Given the description of an element on the screen output the (x, y) to click on. 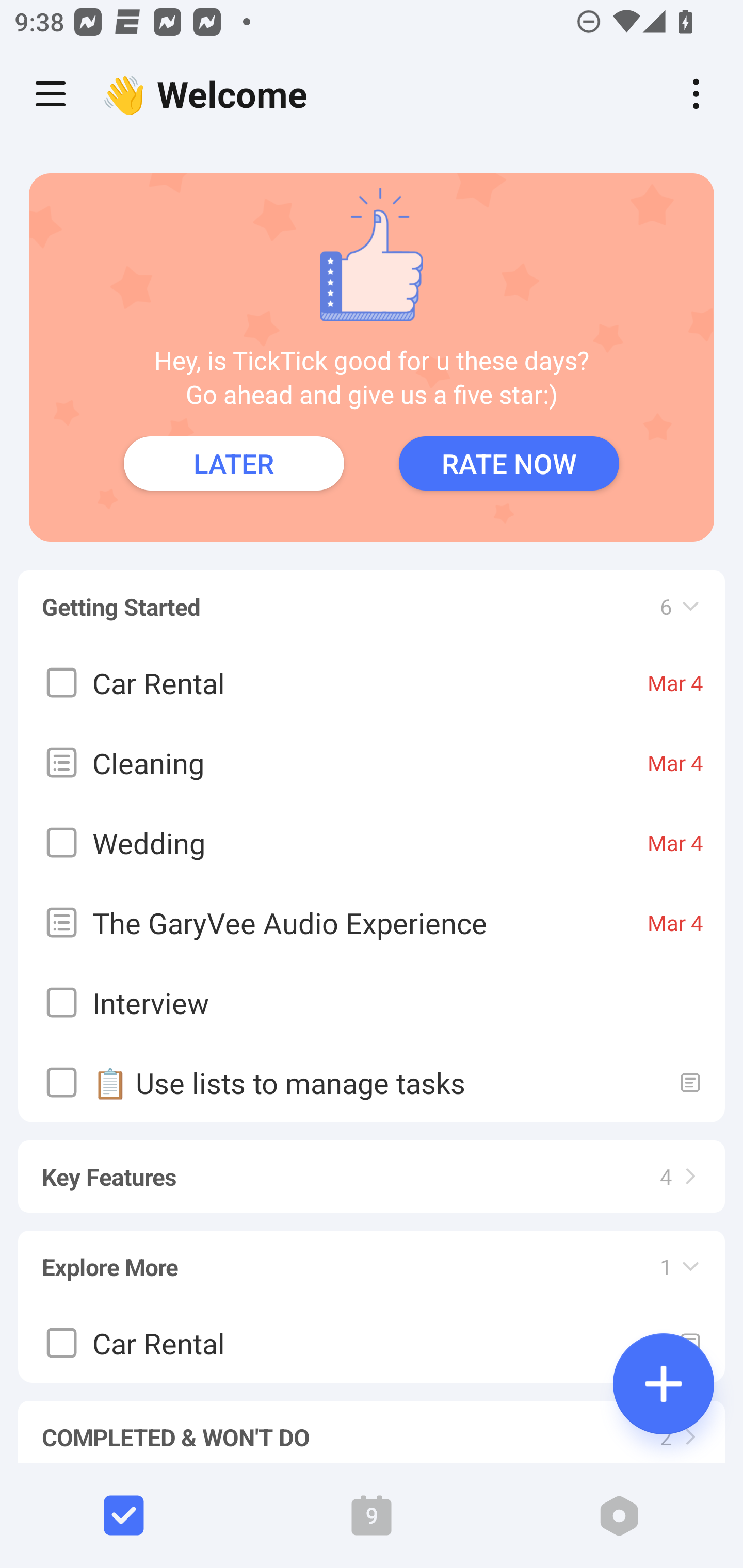
👋 Welcome (209, 93)
LATER (234, 462)
RATE NOW (508, 462)
Getting Started 6 (371, 596)
Car Rental Mar 4 (371, 682)
Mar 4 (675, 682)
Cleaning Mar 4 (371, 762)
Mar 4 (675, 762)
Wedding Mar 4 (371, 842)
Mar 4 (675, 842)
The GaryVee Audio Experience Mar 4 (371, 922)
Mar 4 (675, 922)
Interview (371, 1002)
📋 Use lists to manage tasks (371, 1082)
Key Features 4 (371, 1167)
Explore More 1 (371, 1257)
Car Rental (371, 1342)
COMPLETED & WON'T DO 2 (371, 1422)
